Given the description of an element on the screen output the (x, y) to click on. 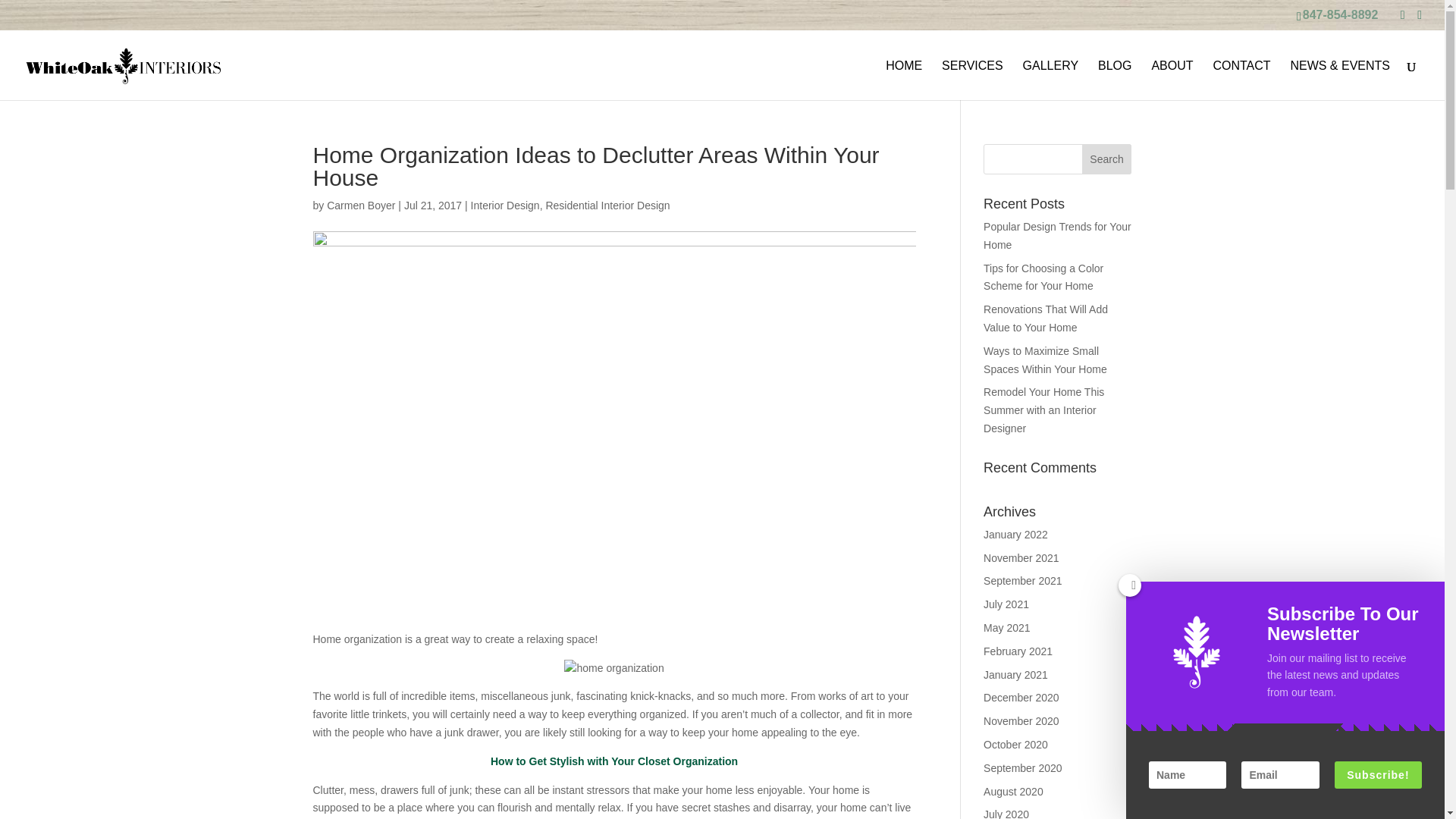
How to Get Stylish with Your Closet Organization (614, 761)
HOME (903, 79)
CONTACT (1240, 79)
SERVICES (972, 79)
Popular Design Trends for Your Home (1057, 235)
Renovations That Will Add Value to Your Home (1046, 318)
Posts by Carmen Boyer (360, 205)
Ways to Maximize Small Spaces Within Your Home (1045, 359)
November 2021 (1021, 558)
January 2022 (1016, 534)
